Given the description of an element on the screen output the (x, y) to click on. 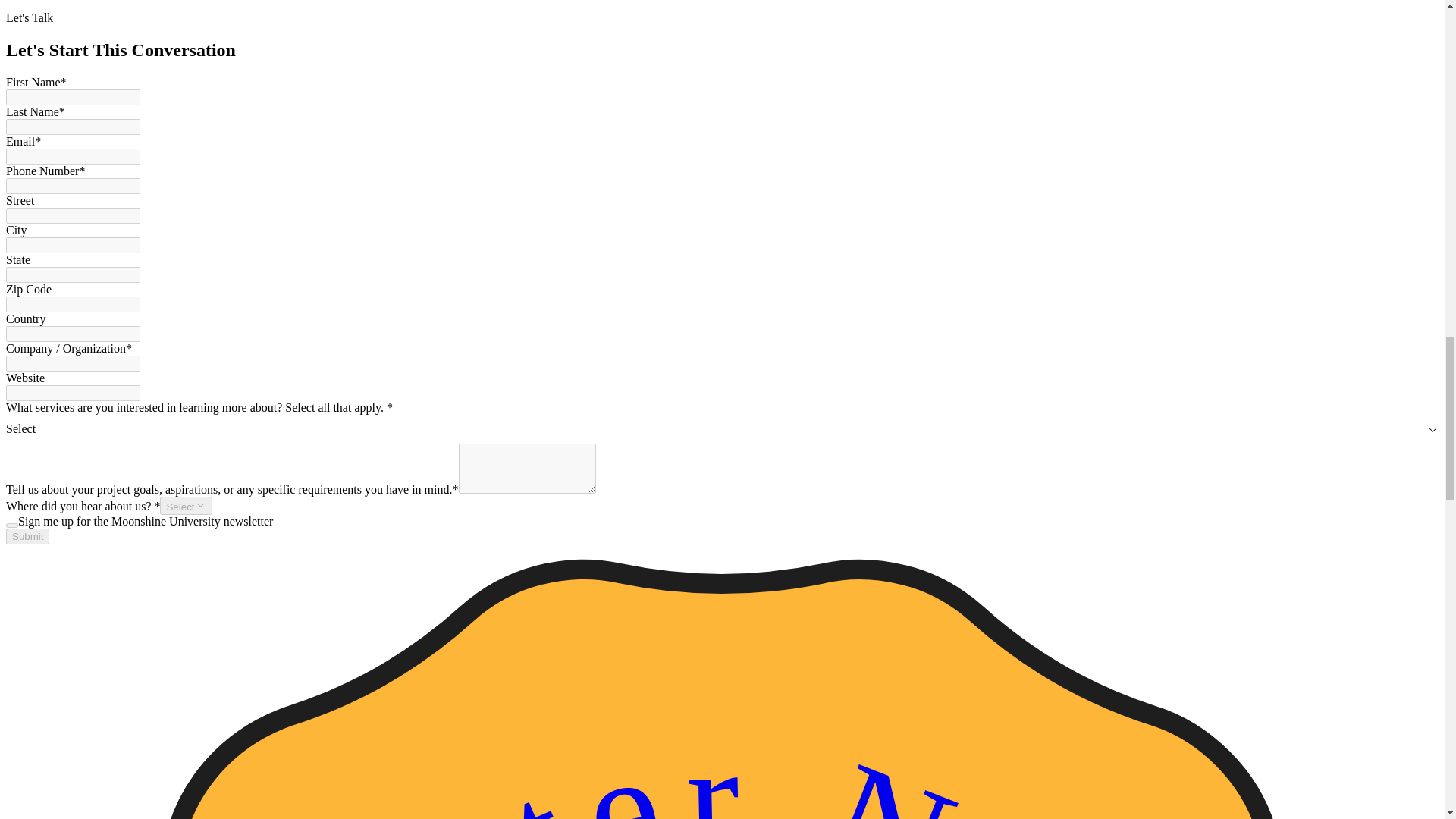
Select (185, 505)
on (11, 525)
Submit (27, 536)
